Given the description of an element on the screen output the (x, y) to click on. 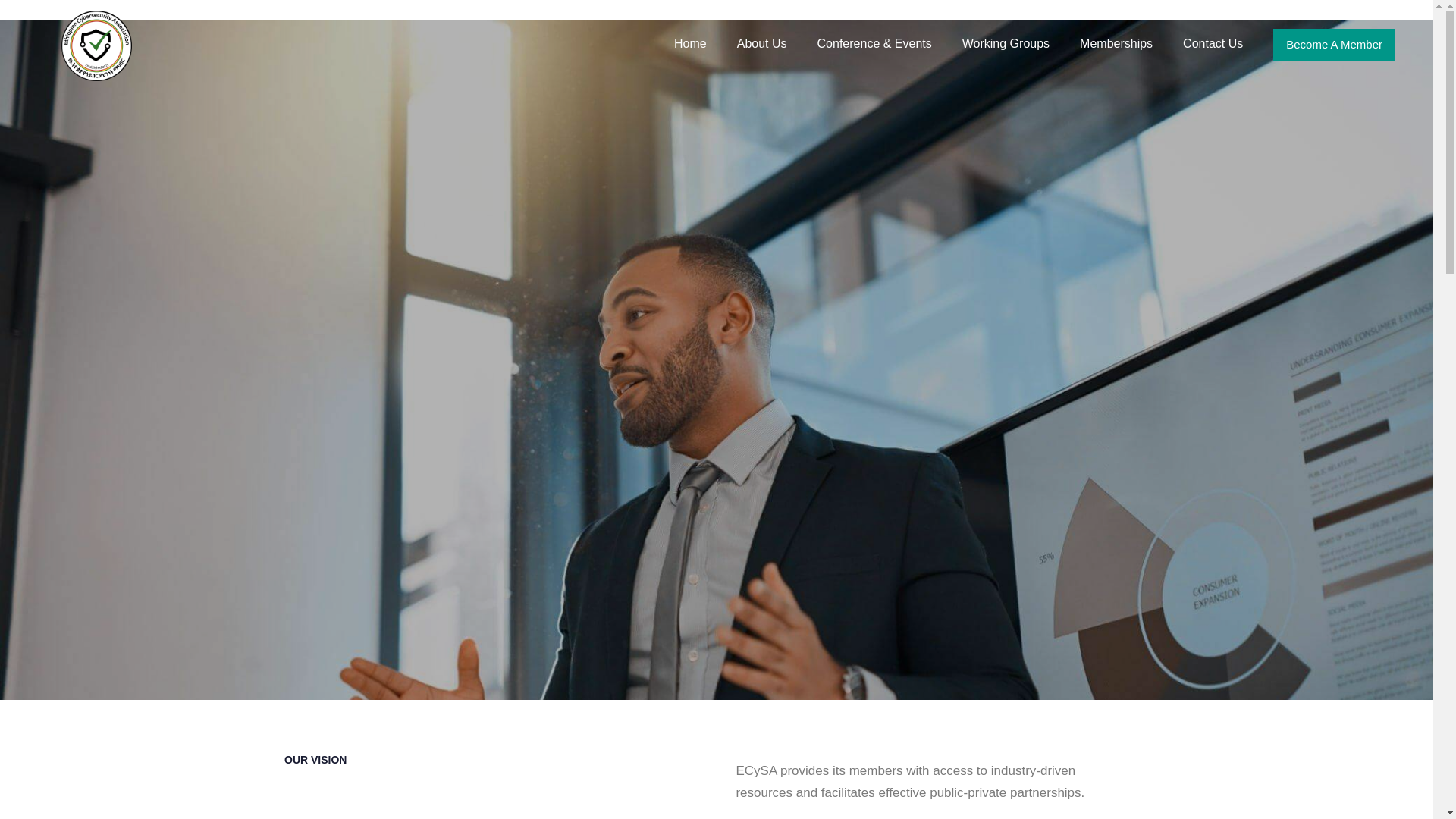
Contact Us (1212, 36)
Memberships (1115, 36)
About Us (762, 36)
Become A Member (1333, 44)
Working Groups (1005, 36)
